Given the description of an element on the screen output the (x, y) to click on. 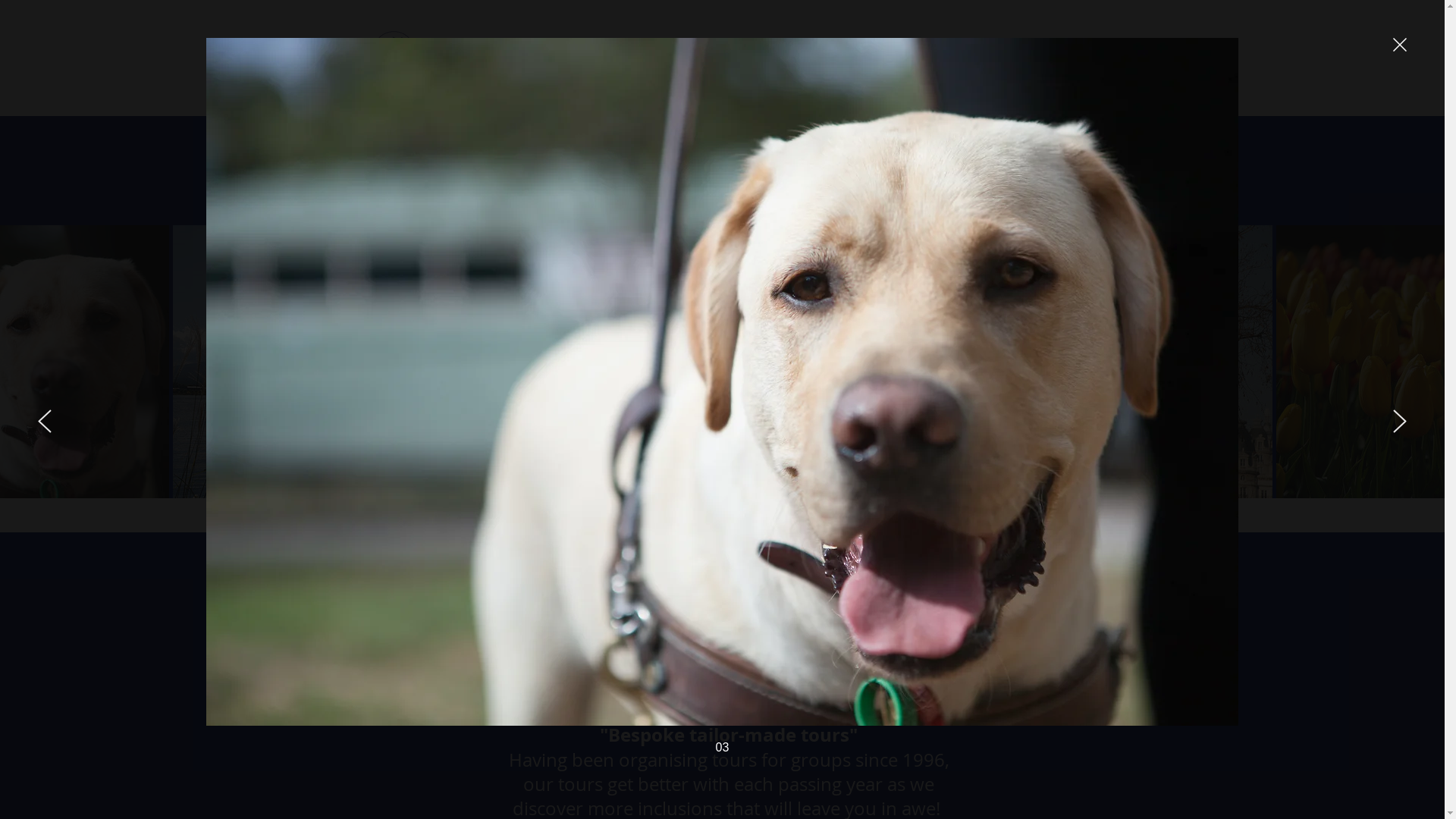
Travel Directory Element type: text (1033, 50)
TWIPLA (Visitor Analytics) Element type: hover (1265, 636)
Day Tours Element type: text (950, 50)
Untitled Element type: hover (393, 53)
